Given the description of an element on the screen output the (x, y) to click on. 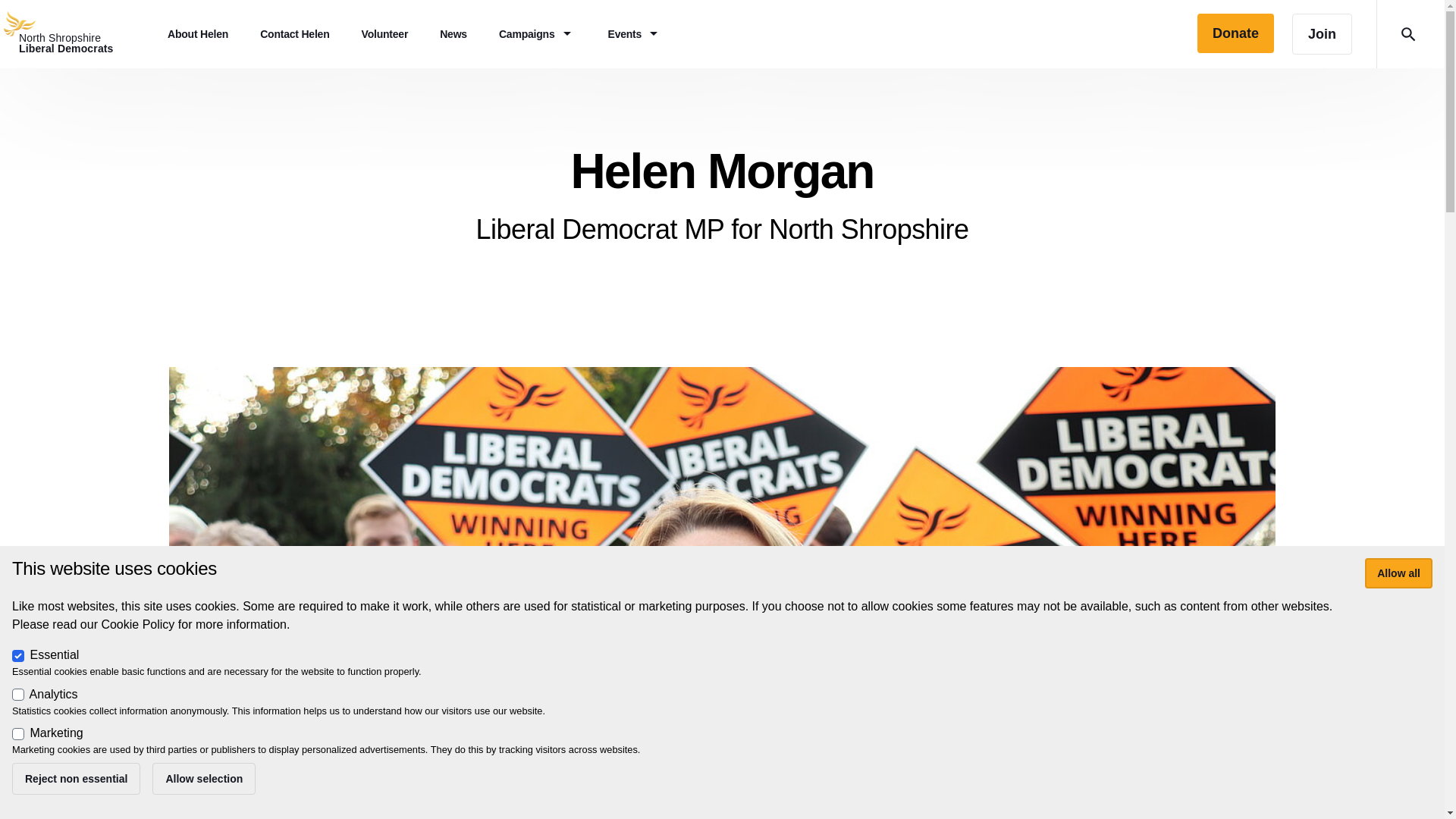
Campaigns (537, 33)
Donate (1235, 33)
About Helen (197, 33)
Reject non essential (75, 778)
Contact Helen (294, 33)
Allow selection (204, 778)
1 (17, 694)
Events (635, 33)
Volunteer (75, 33)
1 (385, 33)
1 (17, 655)
News (17, 734)
Return to home page (453, 33)
Allow all (75, 33)
